Given the description of an element on the screen output the (x, y) to click on. 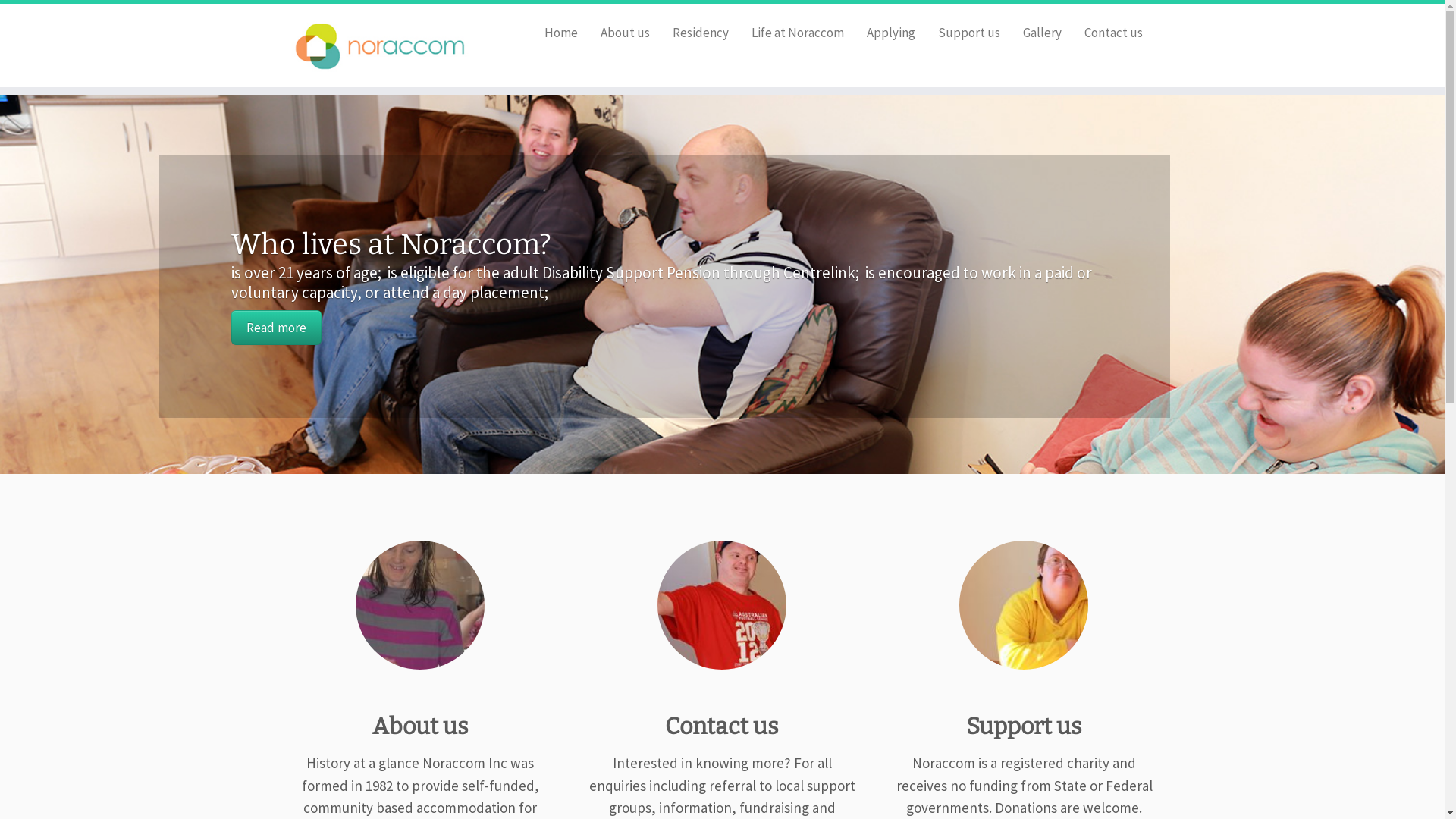
Home Element type: text (561, 32)
Gallery Element type: text (1042, 32)
Read more Element type: text (276, 327)
Life at Noraccom Element type: text (797, 32)
Contact us Element type: text (1107, 32)
Applying Element type: text (890, 32)
About us Element type: text (625, 32)
Support us Element type: text (968, 32)
Residency Element type: text (700, 32)
